Given the description of an element on the screen output the (x, y) to click on. 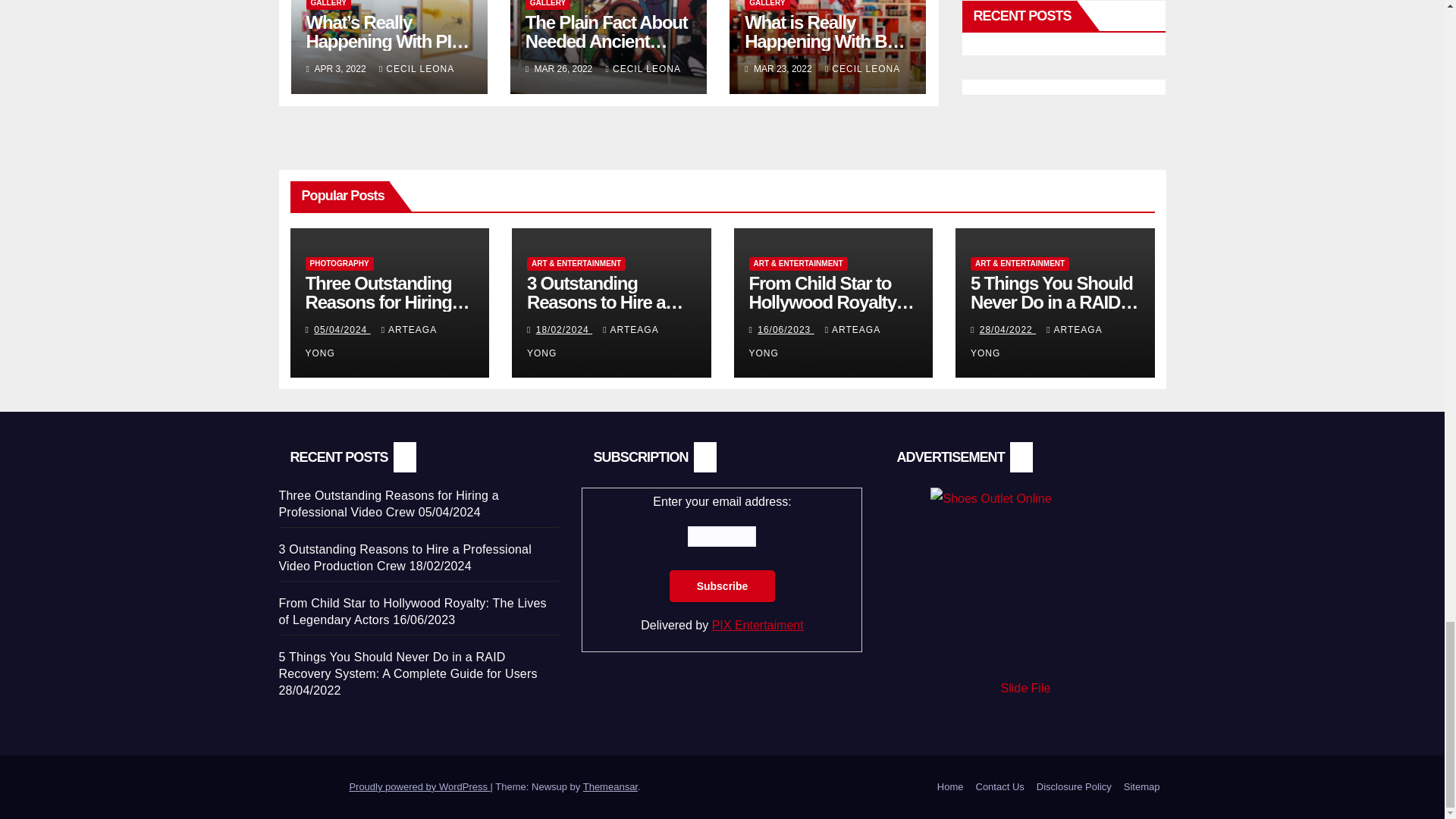
GALLERY (547, 4)
Subscribe (722, 585)
CECIL LEONA (416, 68)
CECIL LEONA (643, 68)
GALLERY (766, 4)
GALLERY (327, 4)
